Given the description of an element on the screen output the (x, y) to click on. 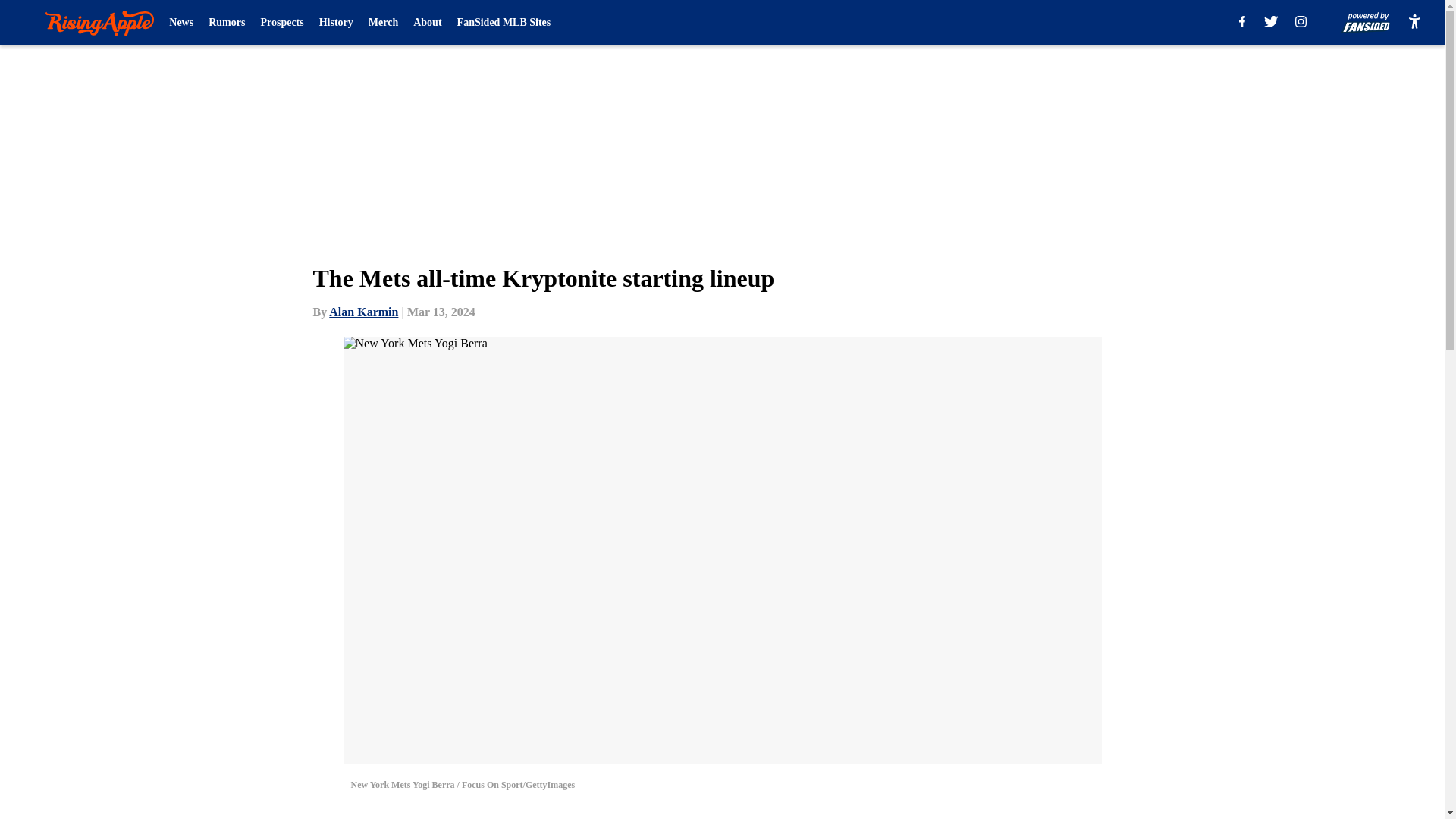
History (335, 22)
FanSided MLB Sites (504, 22)
About (427, 22)
Prospects (281, 22)
News (180, 22)
Alan Karmin (363, 311)
Rumors (226, 22)
Merch (382, 22)
